Given the description of an element on the screen output the (x, y) to click on. 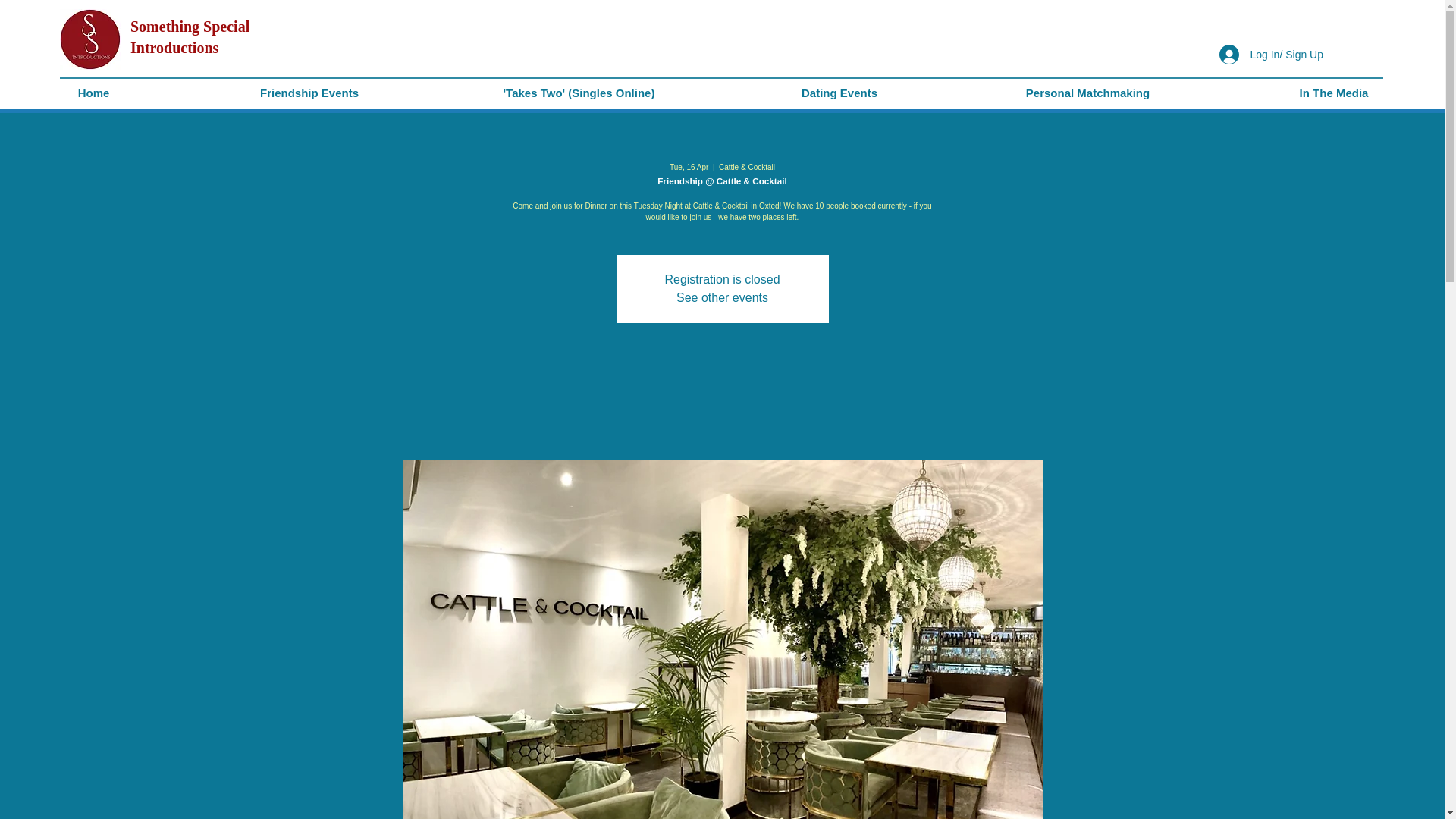
Personal Matchmaking (1087, 92)
Something Special Introductions (189, 37)
Dating Events (839, 92)
Home (93, 92)
Friendship Events (308, 92)
See other events (722, 297)
